Given the description of an element on the screen output the (x, y) to click on. 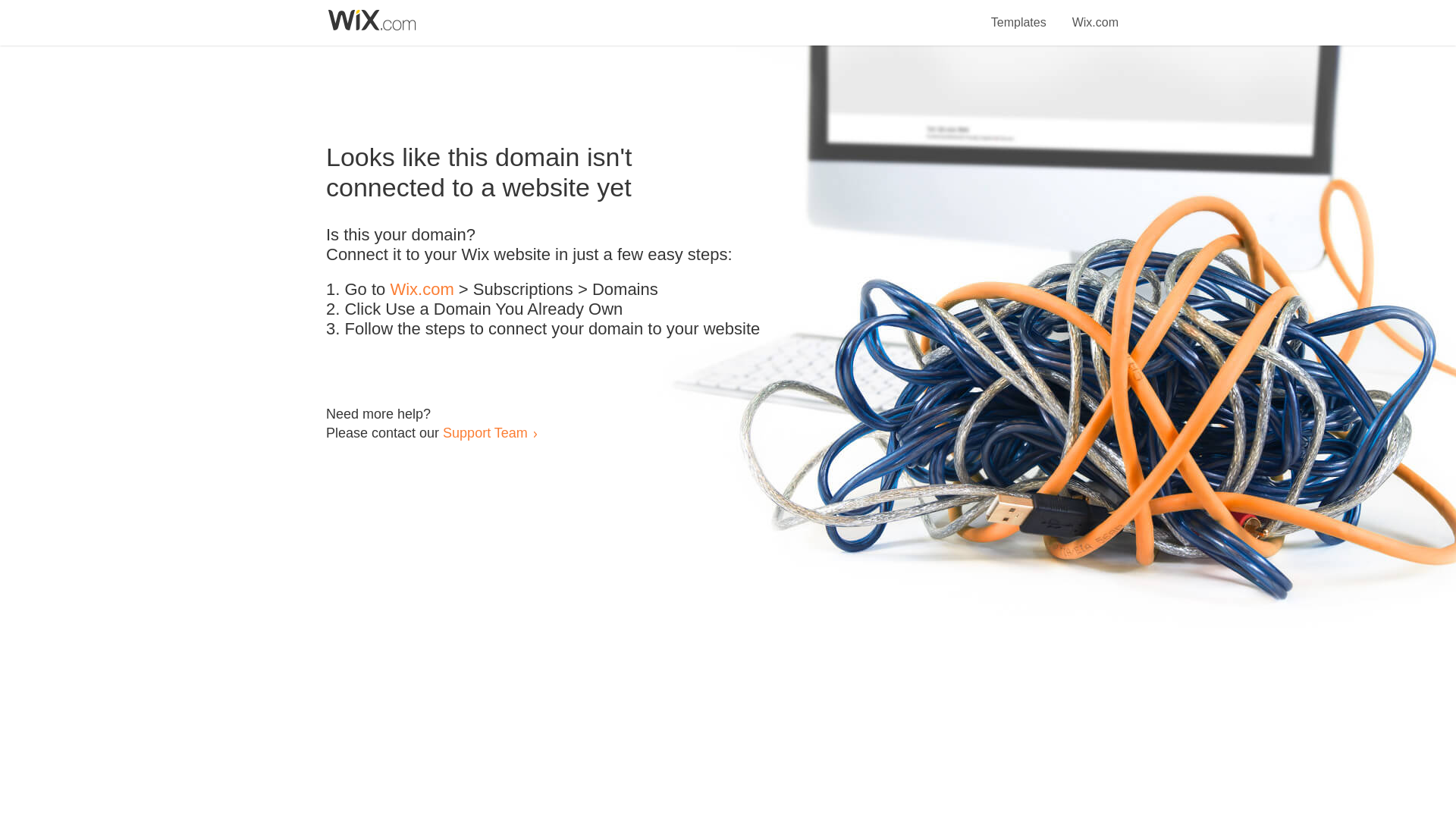
Wix.com (1095, 14)
Wix.com (421, 289)
Support Team (484, 432)
Templates (1018, 14)
